Given the description of an element on the screen output the (x, y) to click on. 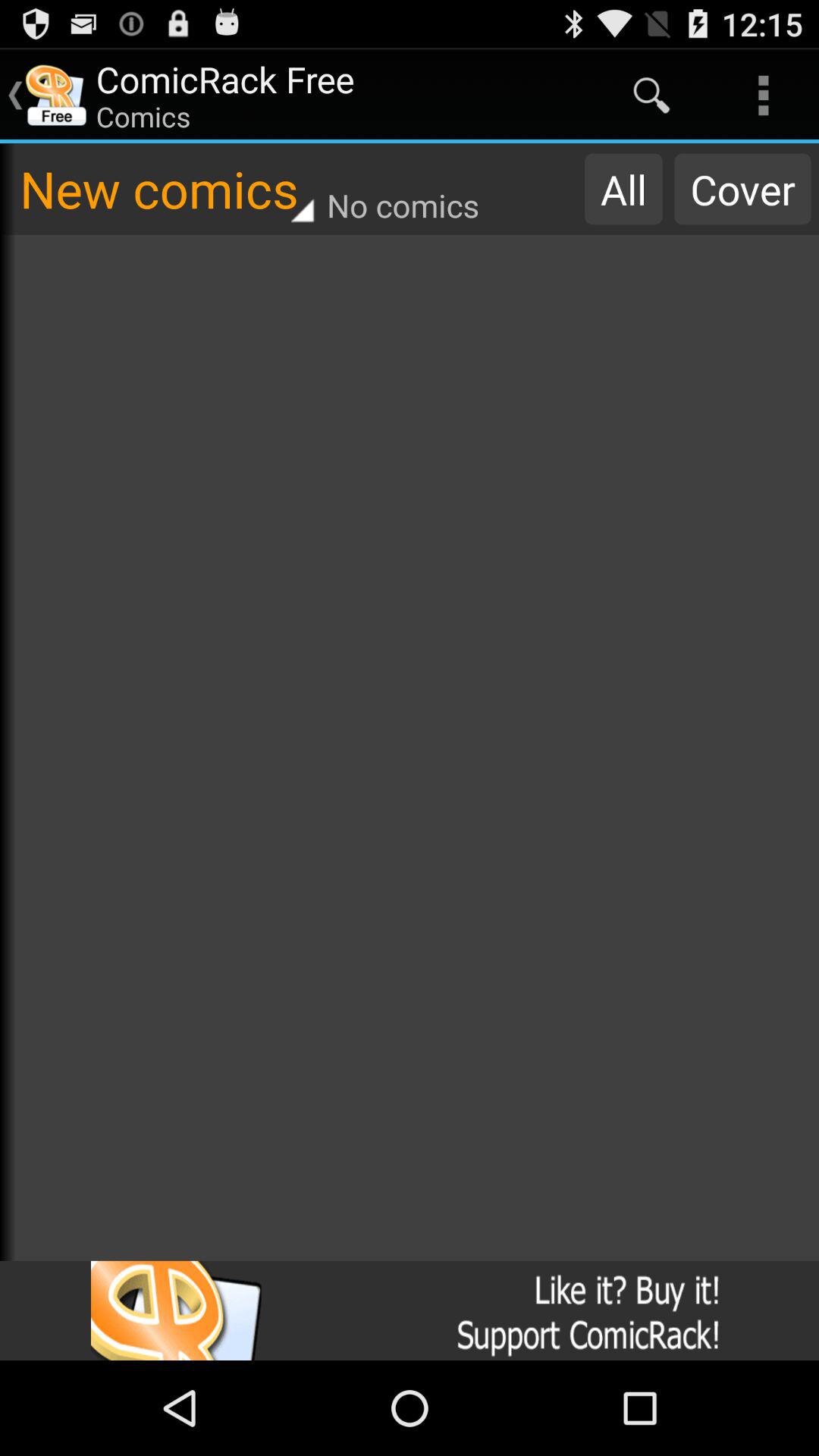
tap item next to the all item (742, 188)
